Given the description of an element on the screen output the (x, y) to click on. 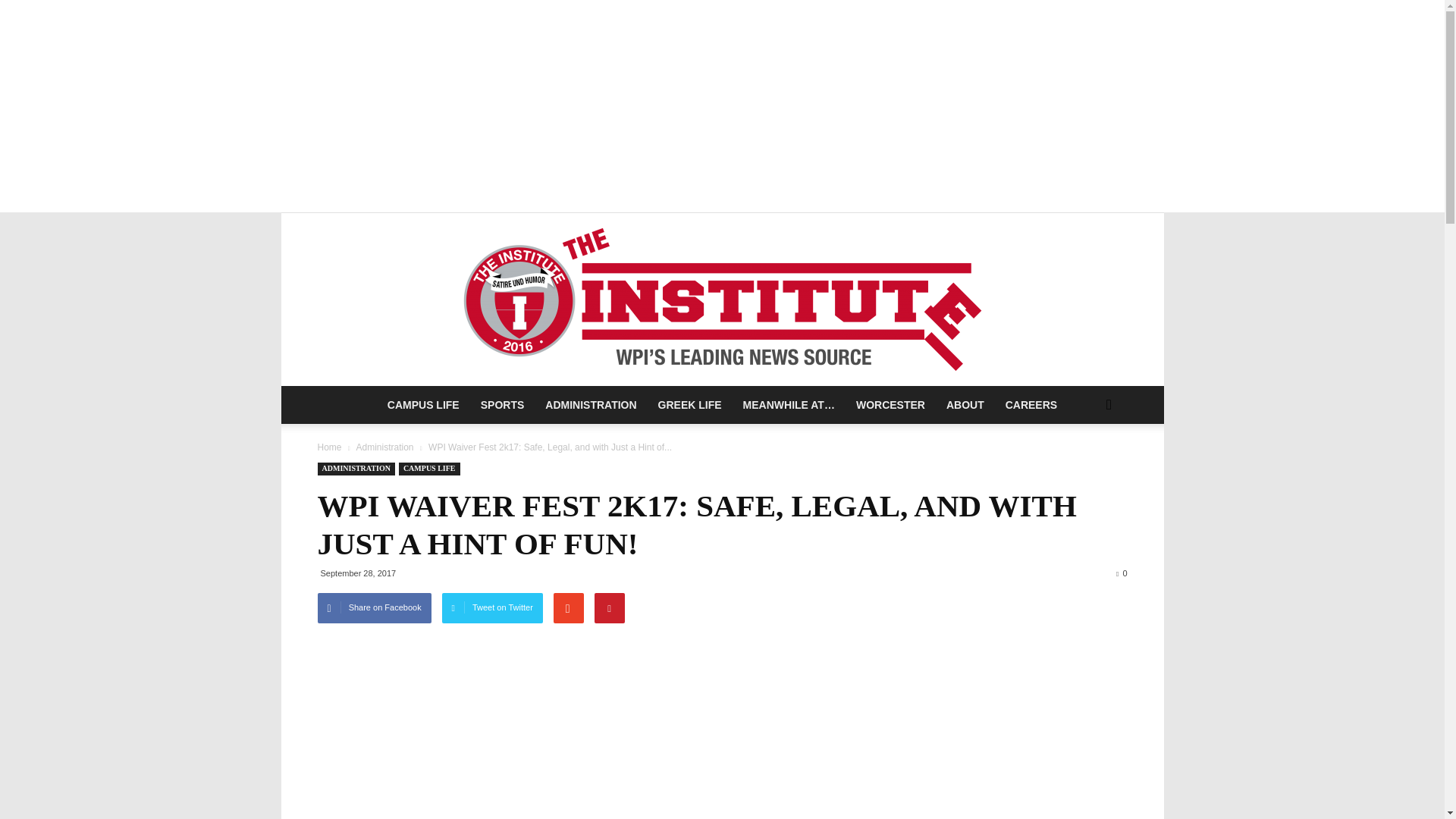
CAMPUS LIFE (423, 404)
Administration (384, 447)
CAMPUS LIFE (429, 468)
Tweet on Twitter (492, 607)
ADMINISTRATION (590, 404)
Share on Facebook (373, 607)
WORCESTER (890, 404)
View all posts in Administration (384, 447)
ADMINISTRATION (355, 468)
GREEK LIFE (689, 404)
